Given the description of an element on the screen output the (x, y) to click on. 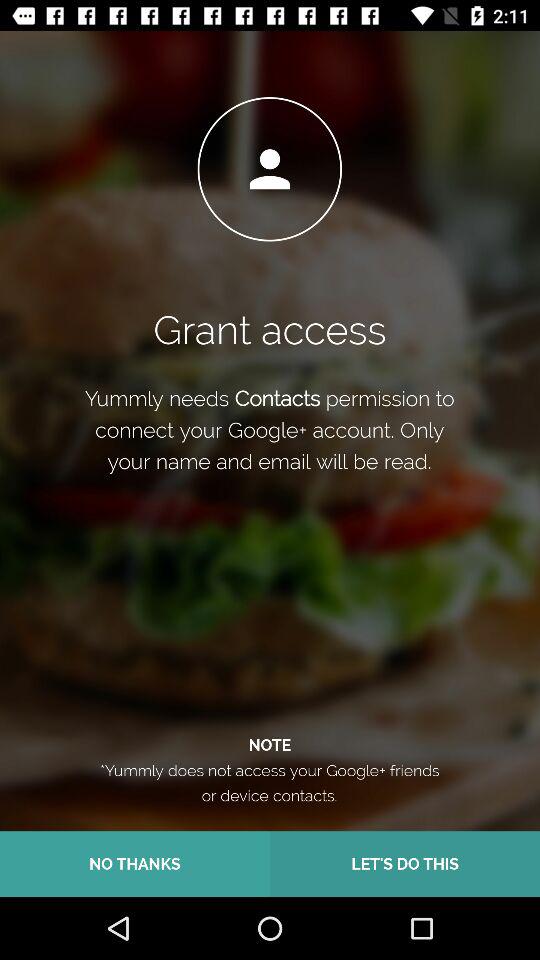
swipe until the no thanks (135, 863)
